Given the description of an element on the screen output the (x, y) to click on. 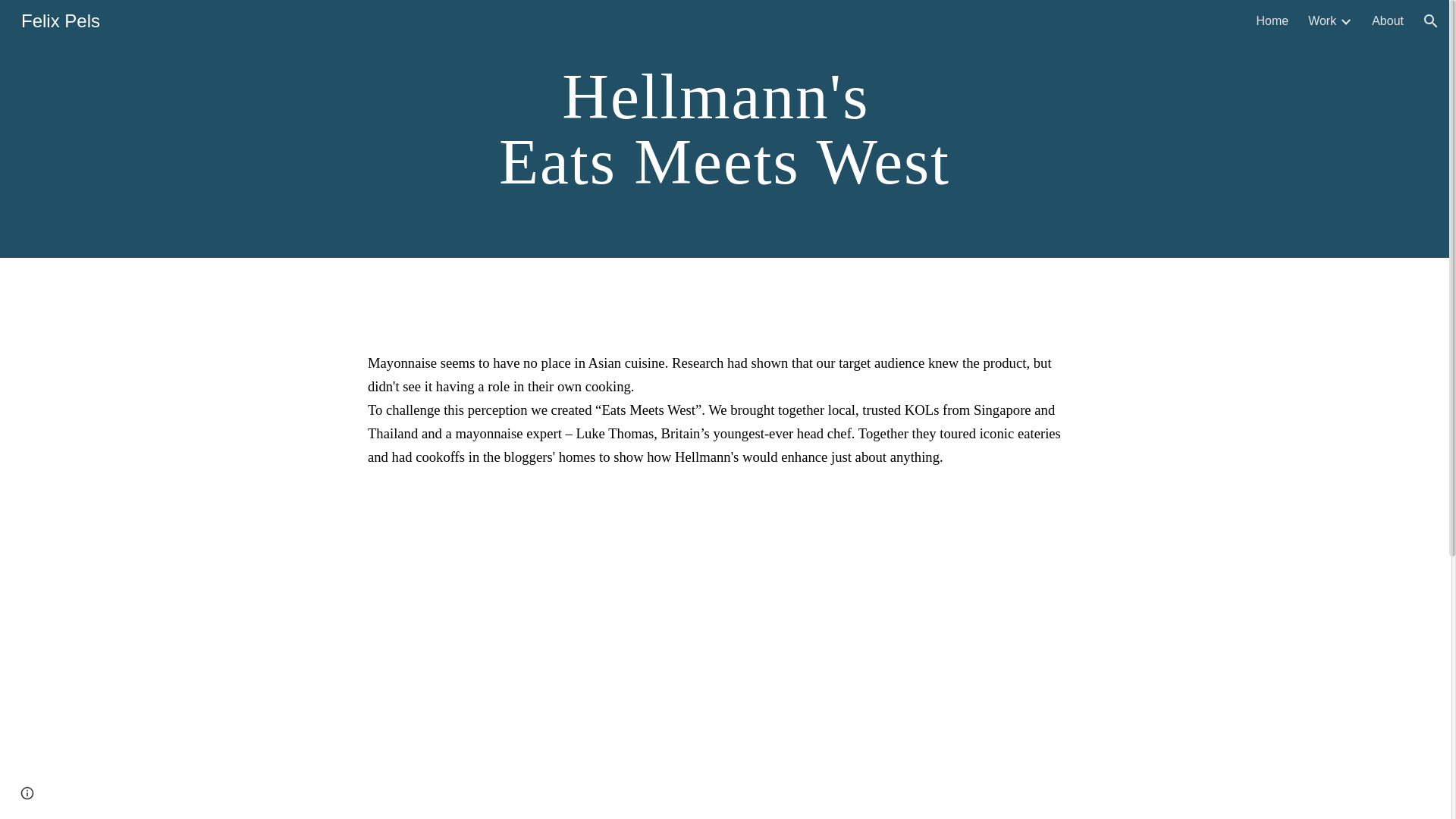
Home (1271, 20)
Work (1321, 20)
Felix Pels (60, 19)
About (1387, 20)
